Given the description of an element on the screen output the (x, y) to click on. 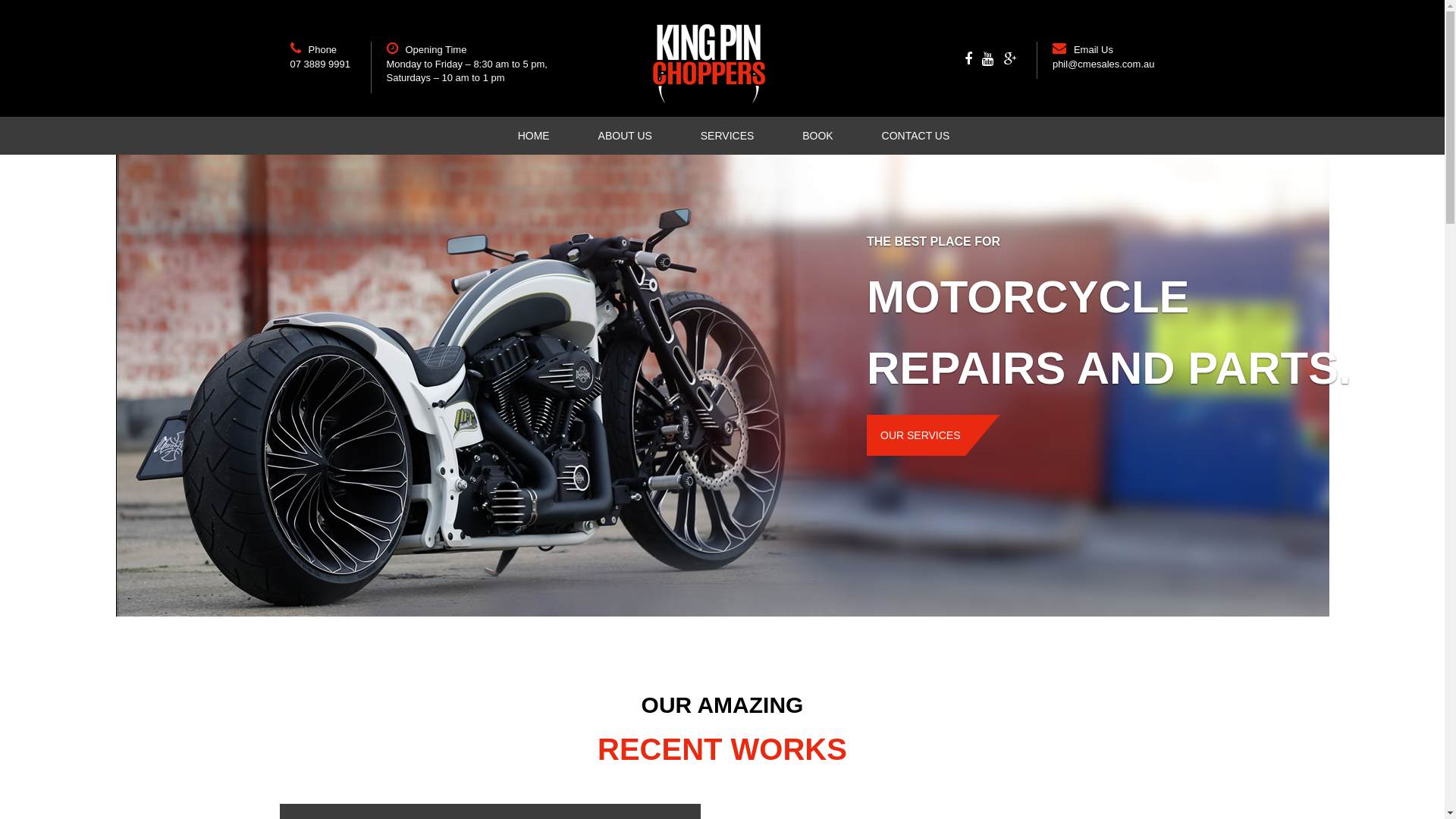
ABOUT US Element type: text (624, 135)
CONTACT US Element type: text (904, 135)
BOOK Element type: text (817, 135)
HOME Element type: text (533, 135)
Opening Time Element type: text (435, 49)
Phone Element type: text (321, 49)
SERVICES Element type: text (727, 135)
Email Us Element type: text (1093, 49)
